Given the description of an element on the screen output the (x, y) to click on. 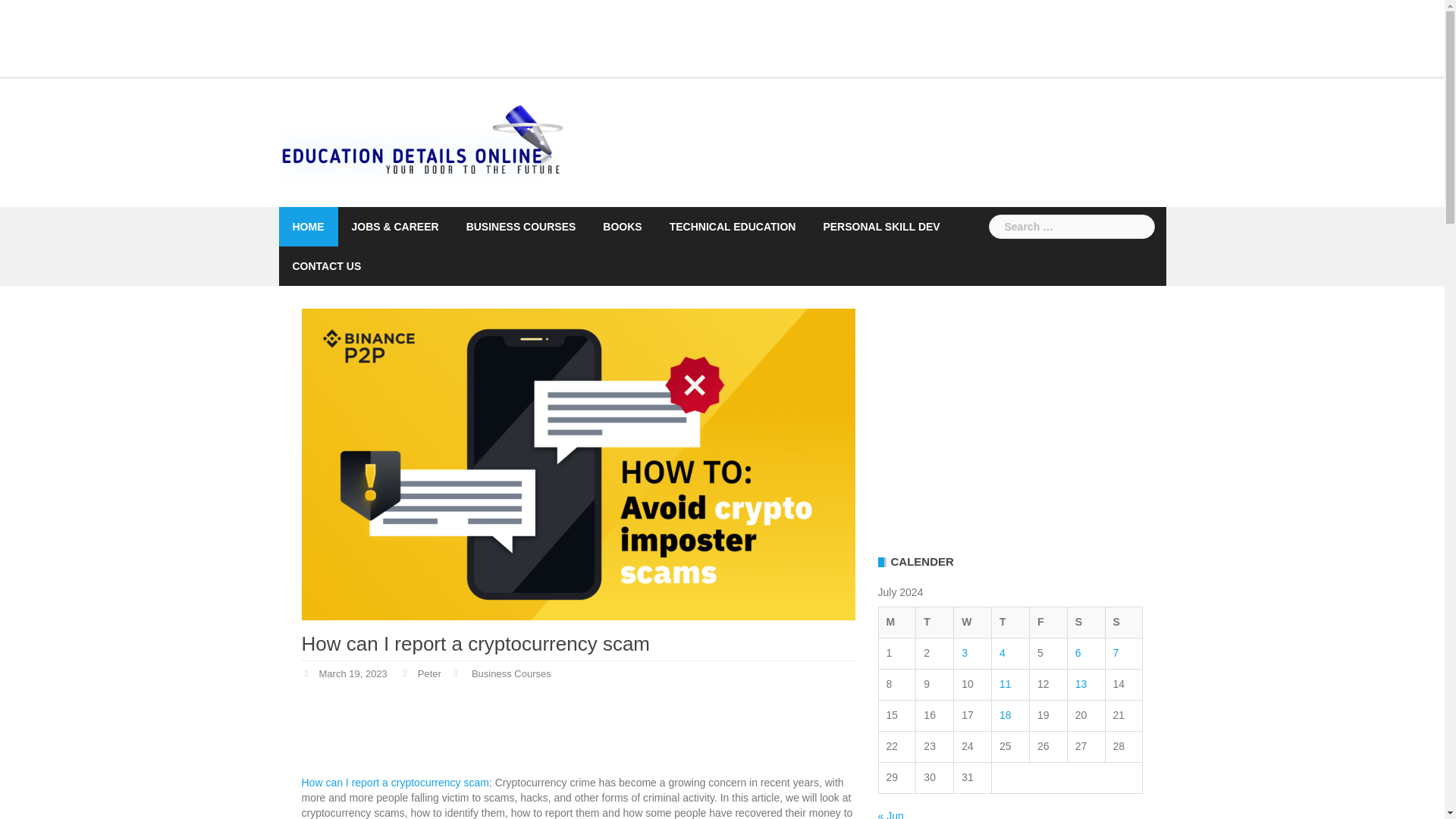
Business Courses (511, 674)
Advertisement (265, 36)
Advertisement (578, 735)
Wednesday (972, 622)
Search (39, 18)
Monday (896, 622)
CONTACT US (326, 265)
11 (1004, 684)
Saturday (1086, 622)
18 (1004, 715)
How can I report a cryptocurrency scam (395, 782)
Friday (1048, 622)
Thursday (1010, 622)
13 (1081, 684)
TECHNICAL EDUCATION (732, 226)
